Given the description of an element on the screen output the (x, y) to click on. 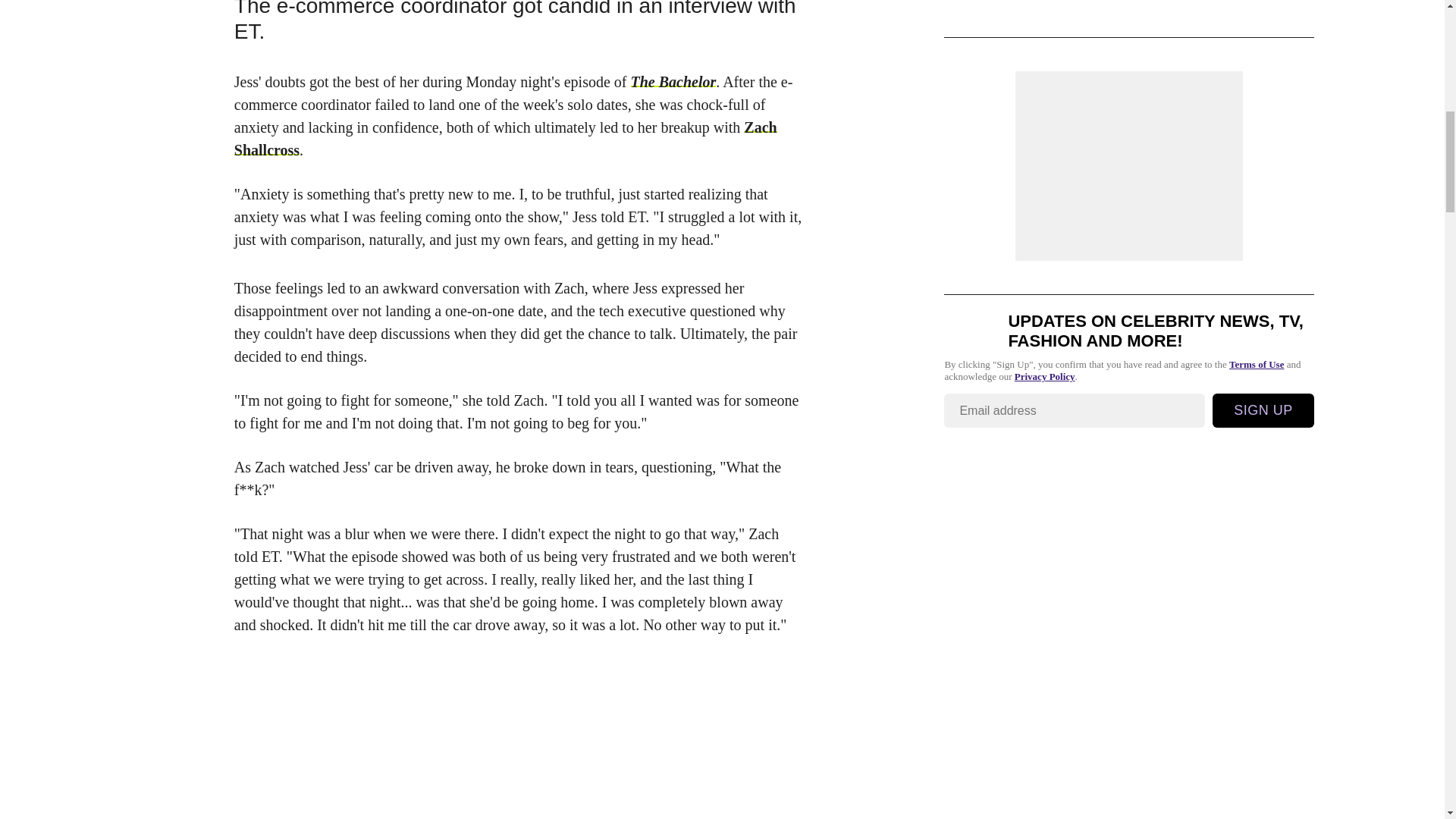
Zach Shallcross (505, 138)
The Bachelor (673, 81)
